Given the description of an element on the screen output the (x, y) to click on. 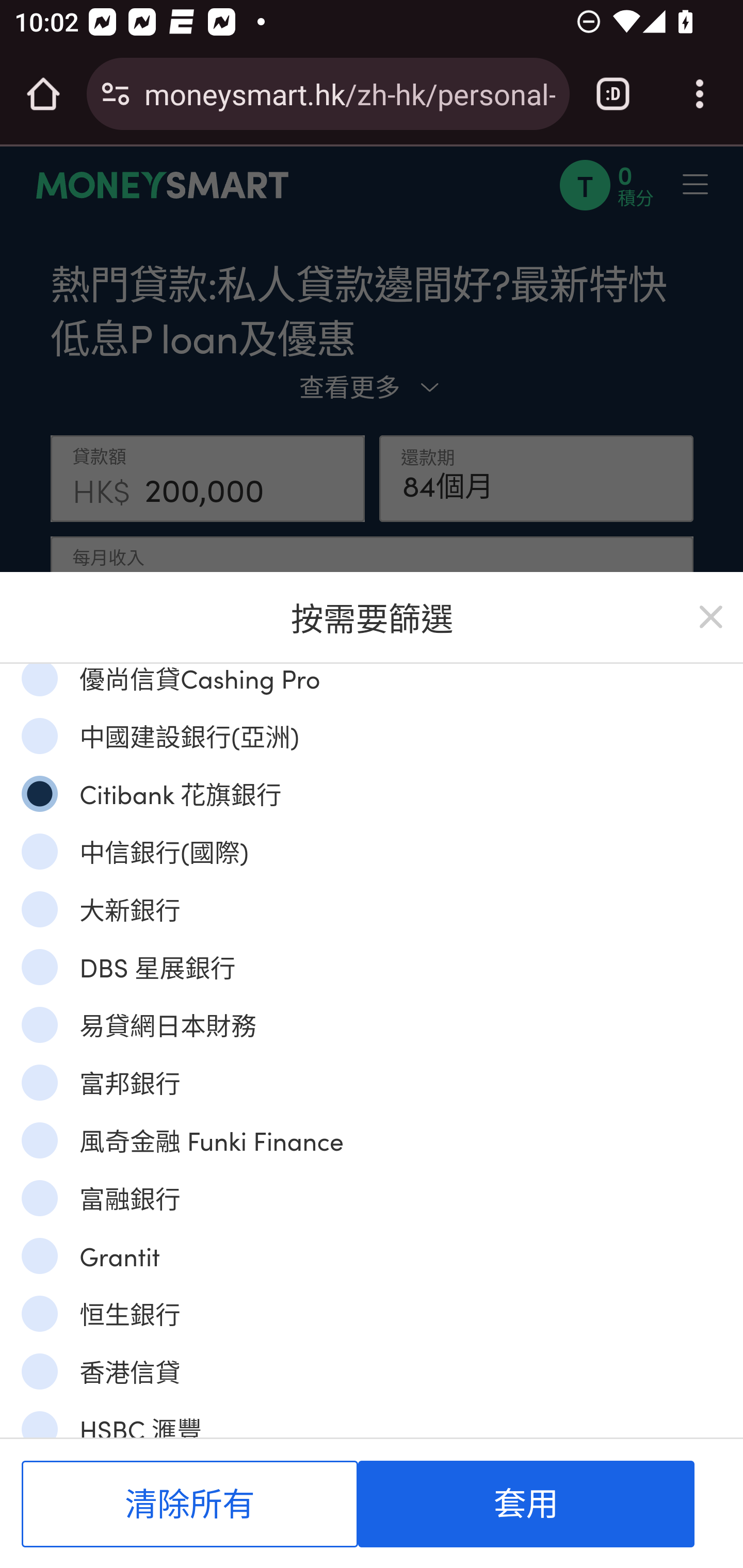
Open the home page (43, 93)
Connection is secure (115, 93)
Switch or close tabs (612, 93)
Customize and control Google Chrome (699, 93)
優尚信貸Cashing Pro (39, 678)
中國建設銀行(亞洲) (39, 735)
Citibank 花旗銀行 (39, 793)
中信銀行(國際) (39, 851)
大新銀行 (39, 908)
DBS 星展銀行 (39, 966)
易貸網日本財務 (39, 1023)
富邦銀行 (39, 1081)
風奇金融 Funki Finance (39, 1139)
富融銀行 (39, 1197)
Grantit (39, 1254)
恒生銀行 (39, 1312)
香港信貸 (39, 1370)
HSBC 滙豐 (39, 1423)
清除所有 (189, 1504)
套用 (525, 1504)
